Given the description of an element on the screen output the (x, y) to click on. 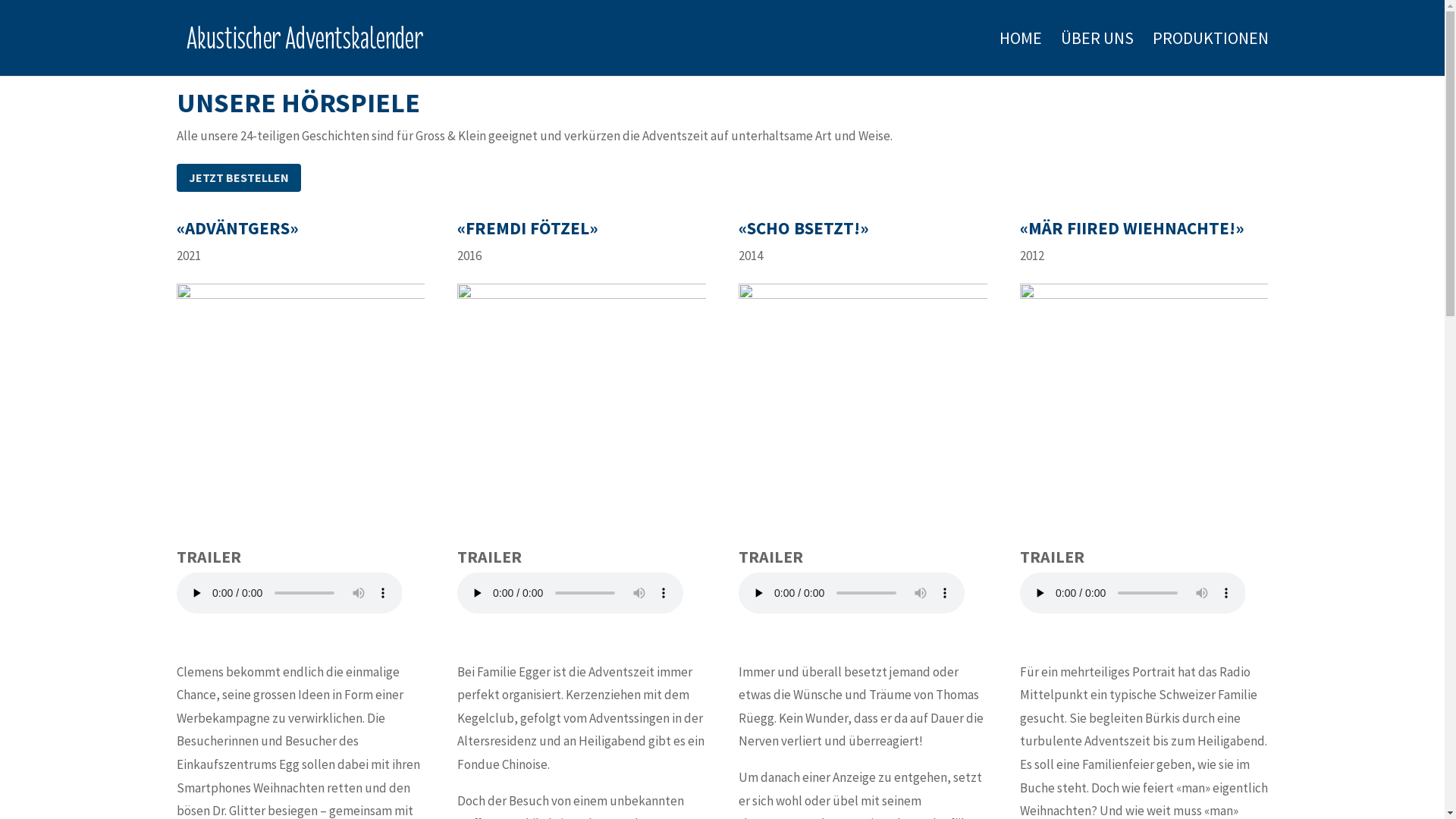
HOME Element type: text (1020, 53)
Cover_120_2015_MF Element type: hover (1143, 407)
Coverbild_Advaentgers Element type: hover (299, 407)
JETZT BESTELLEN Element type: text (237, 177)
PRODUKTIONEN Element type: text (1210, 53)
Cover_120_2015_SB Element type: hover (862, 407)
flyer_ff_2016 Element type: hover (581, 407)
